Given the description of an element on the screen output the (x, y) to click on. 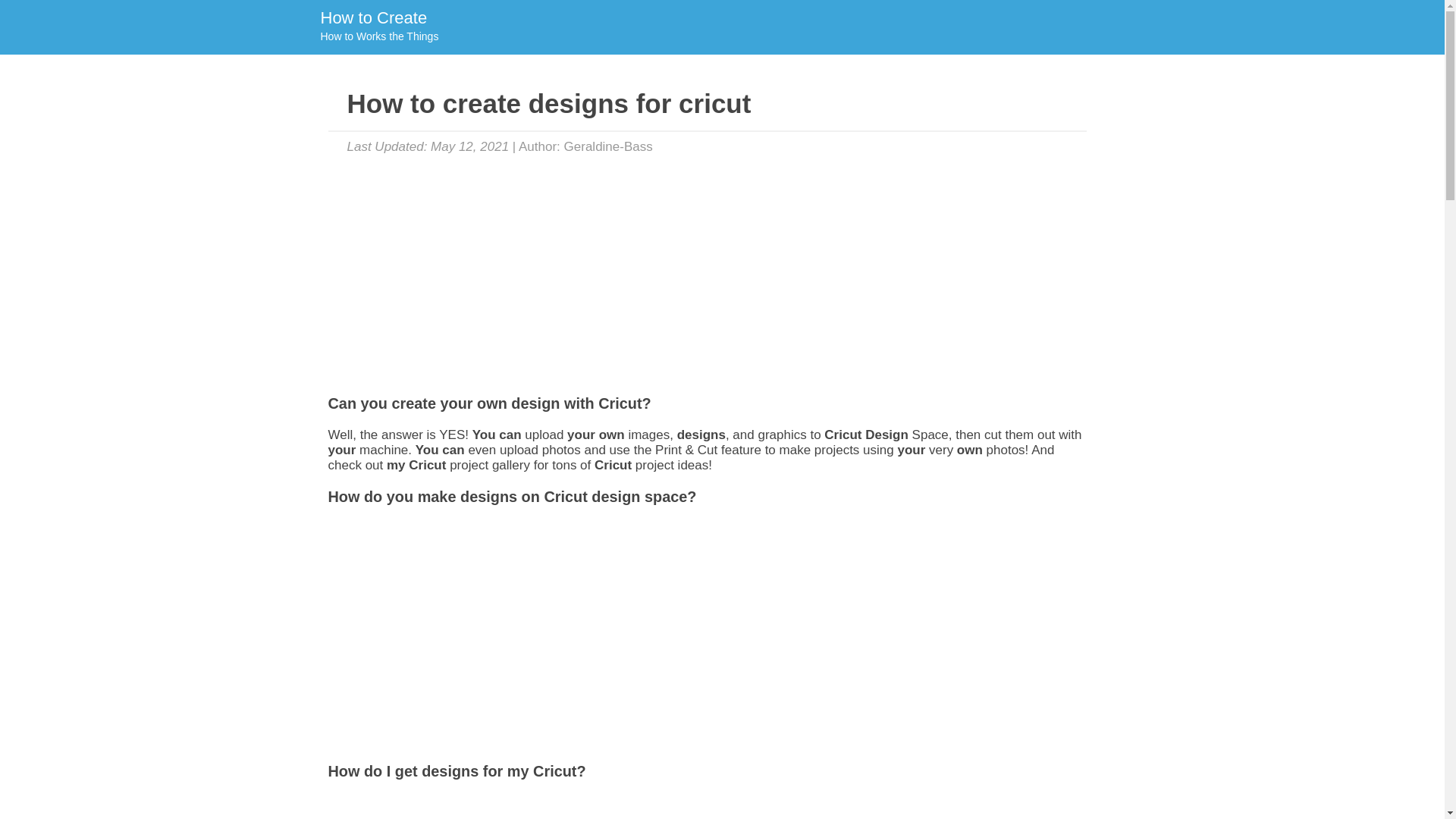
Geraldine-Bass (608, 146)
UPLOAD IMAGES TO CRICUT DESIGN SPACE FOR FREE (378, 27)
Advertisement (526, 807)
